Given the description of an element on the screen output the (x, y) to click on. 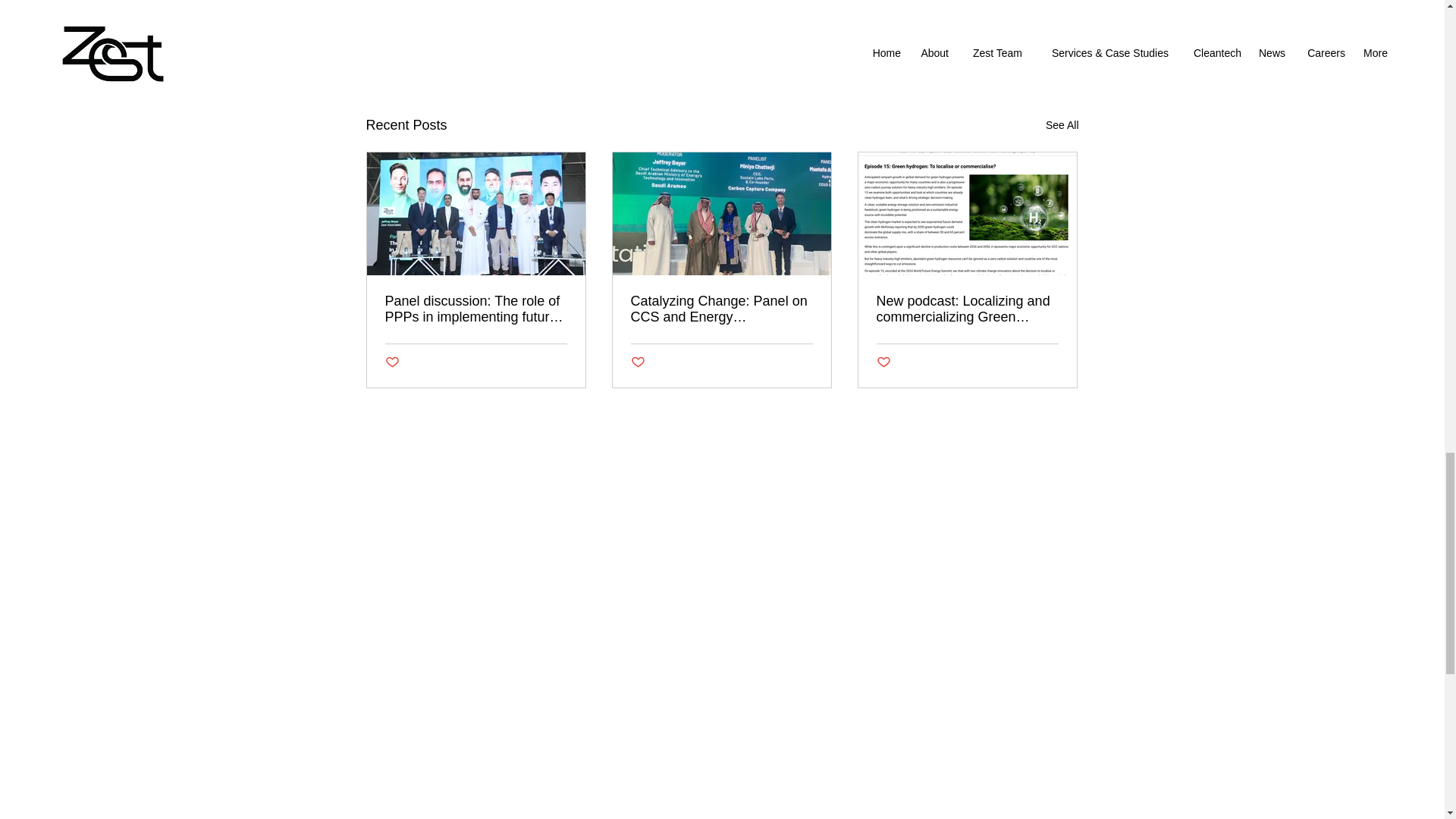
Catalyzing Change: Panel on CCS and Energy Sustainability (721, 309)
Post not marked as liked (391, 362)
Post not marked as liked (995, 42)
Post not marked as liked (637, 362)
See All (1061, 125)
New podcast: Localizing and commercializing Green Hydrogen (967, 309)
